Given the description of an element on the screen output the (x, y) to click on. 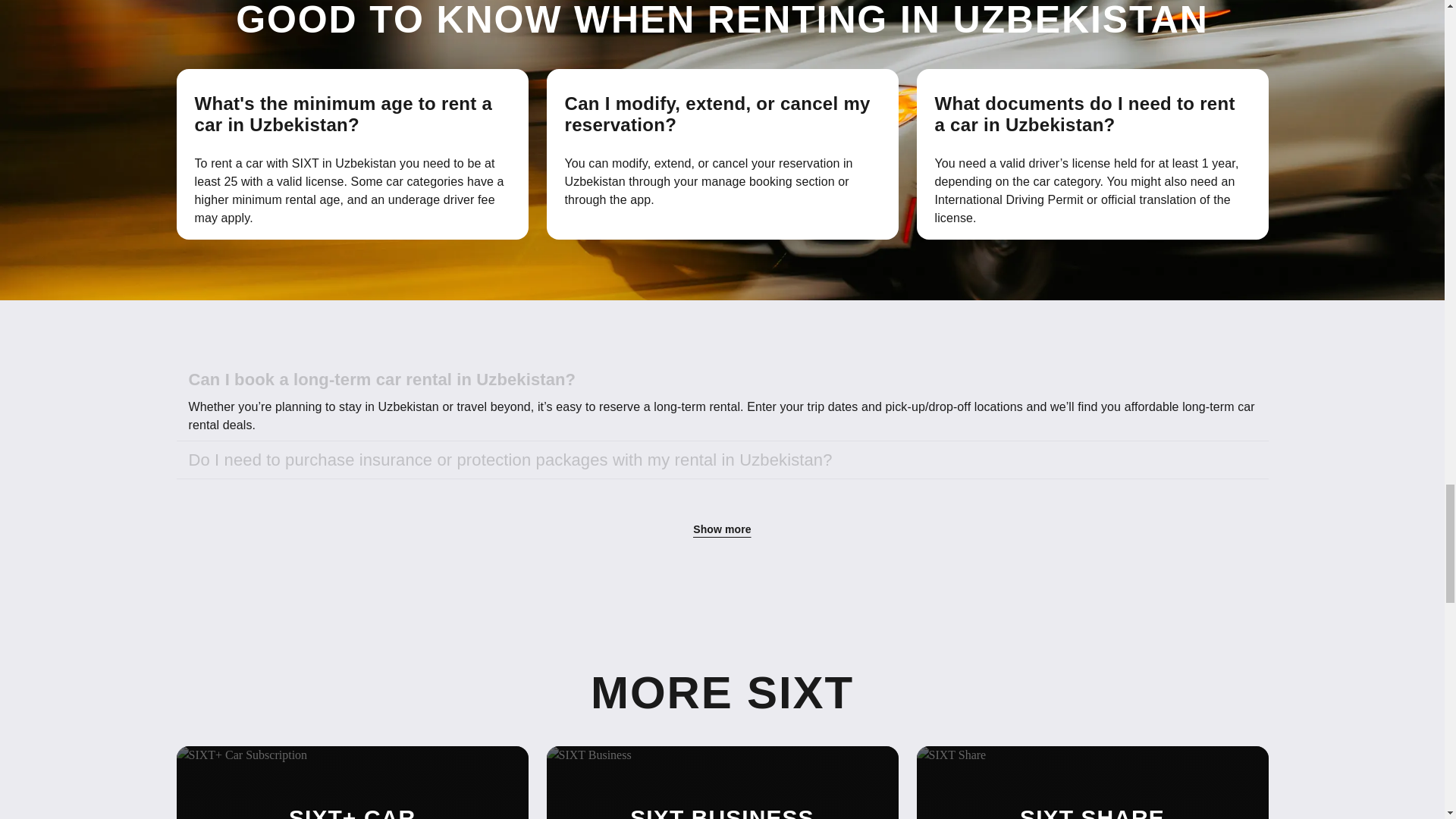
Show more (722, 528)
Can I book a long-term car rental in Uzbekistan? (722, 379)
